Given the description of an element on the screen output the (x, y) to click on. 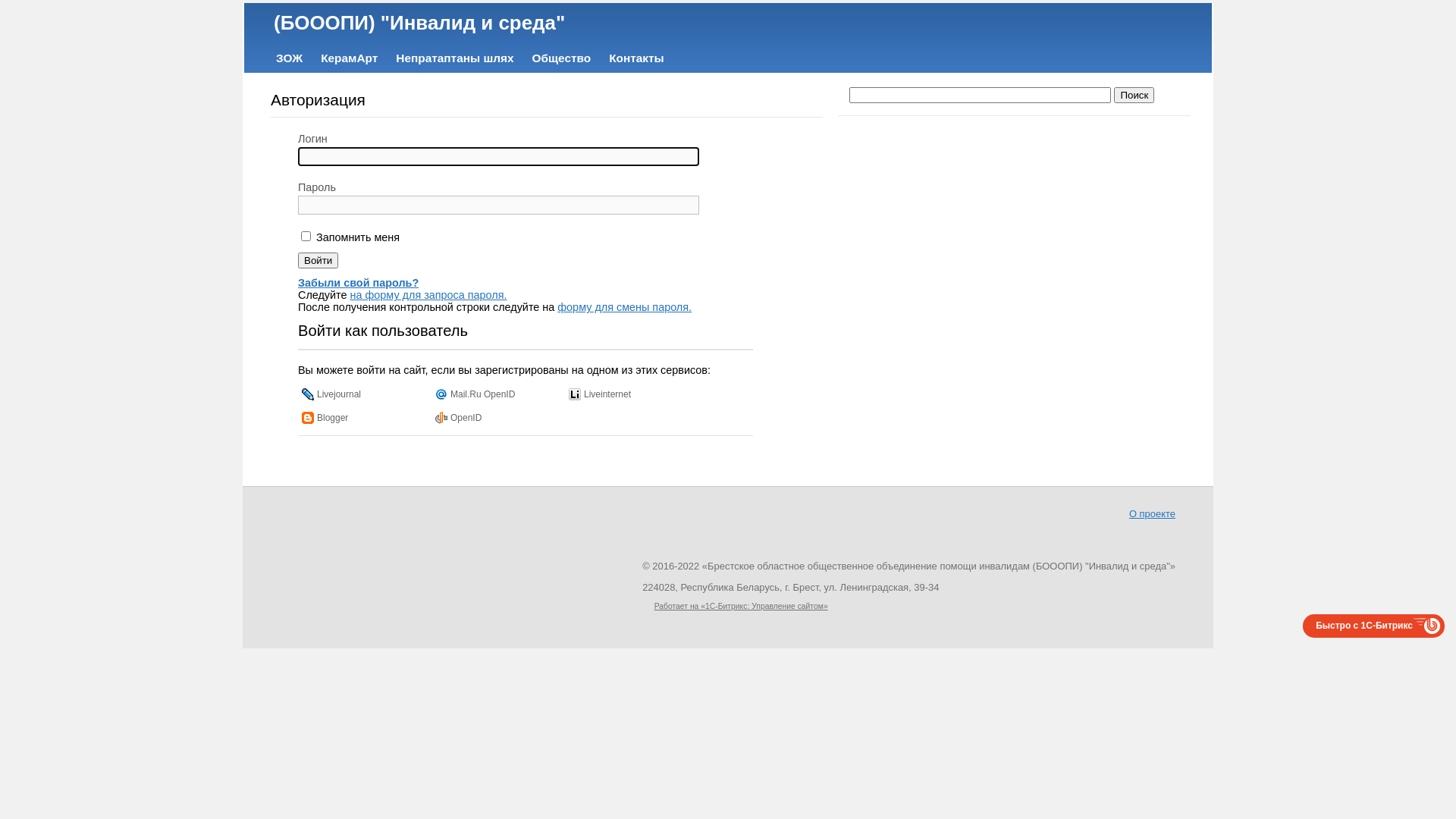
Livejournal Element type: text (331, 393)
Liveinternet Element type: text (599, 393)
Blogger Element type: text (324, 416)
Mail.Ru OpenID Element type: text (474, 393)
OpenID Element type: text (458, 416)
